Given the description of an element on the screen output the (x, y) to click on. 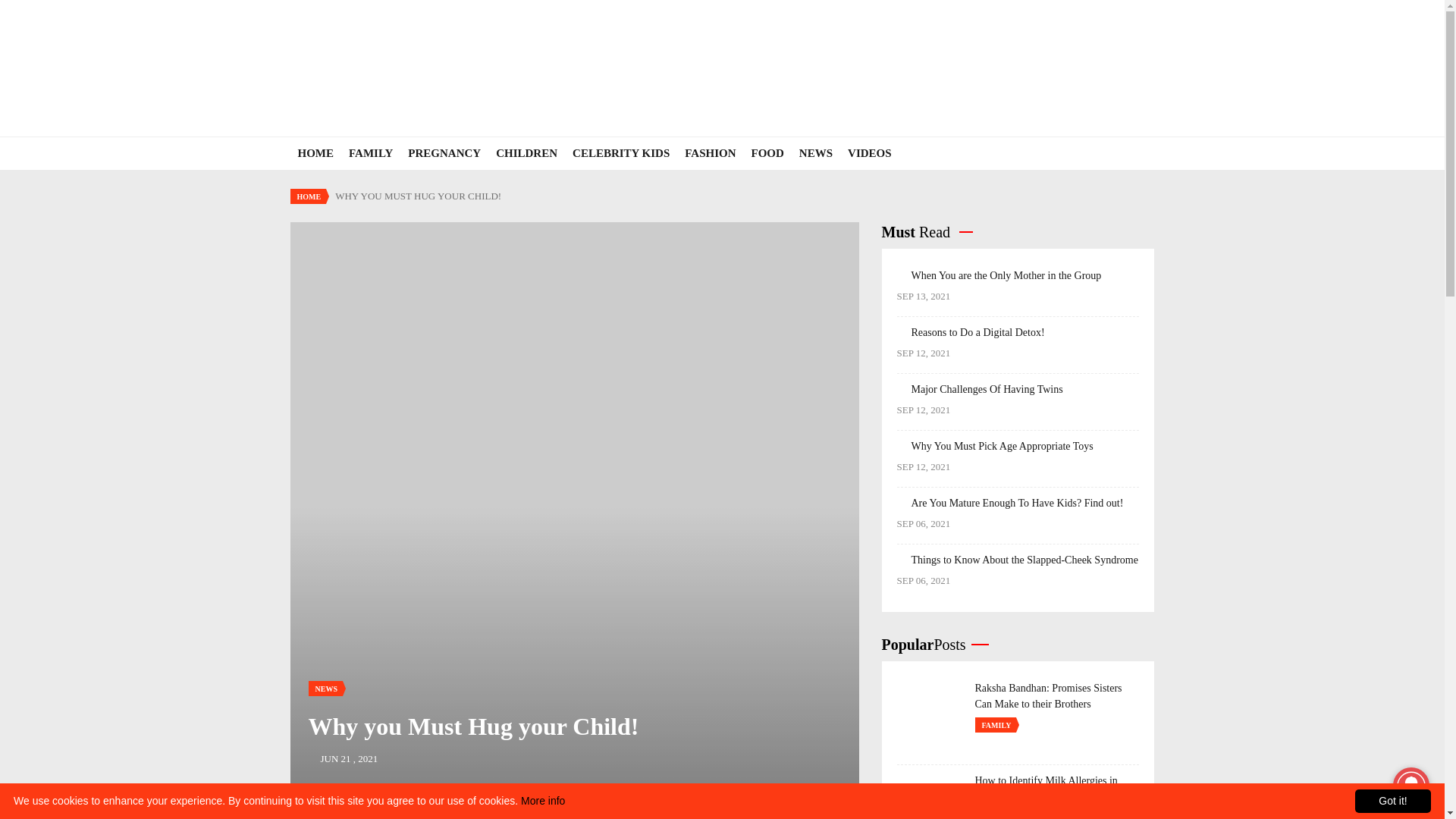
HOME (314, 153)
CHILDREN (525, 153)
NEWS (324, 688)
FASHION (709, 153)
VIDEOS (869, 153)
HOME (307, 196)
Twitter (453, 818)
FAMILY (370, 153)
NEWS (816, 153)
FOOD (768, 153)
Facebook (355, 818)
PREGNANCY (443, 153)
CELEBRITY KIDS (620, 153)
